Given the description of an element on the screen output the (x, y) to click on. 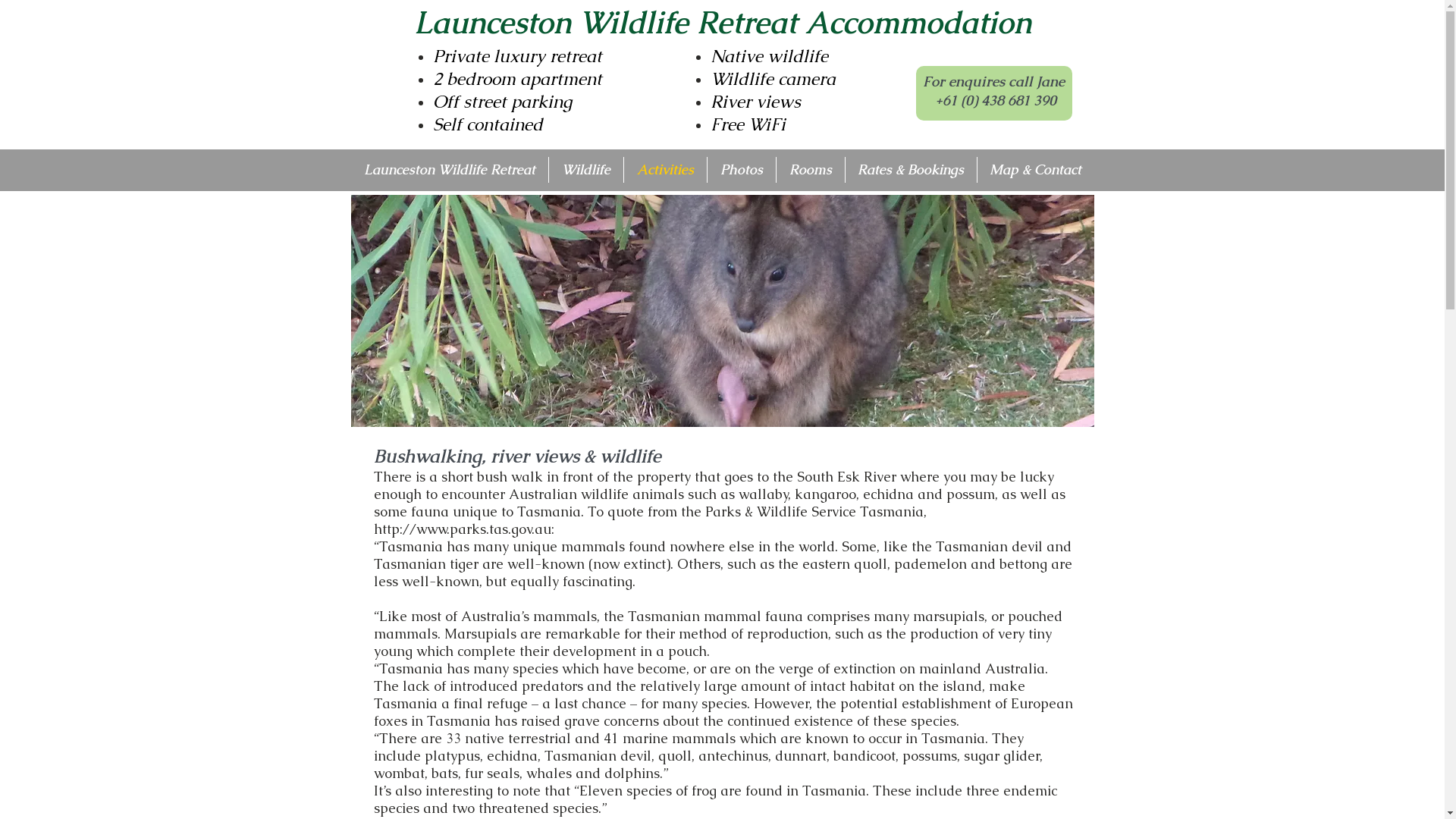
Wildlife Element type: text (586, 169)
Photos Element type: text (740, 169)
Activities Element type: text (664, 169)
Rooms Element type: text (810, 169)
Rates & Bookings Element type: text (909, 169)
http://www.parks.tas.gov.au Element type: text (461, 528)
Launceston Wildlife Retreat Accommodation Element type: text (722, 22)
P1050807 - Version 23.JPG Element type: hover (721, 310)
Launceston Wildlife Retreat Element type: text (448, 169)
Map & Contact Element type: text (1034, 169)
